Given the description of an element on the screen output the (x, y) to click on. 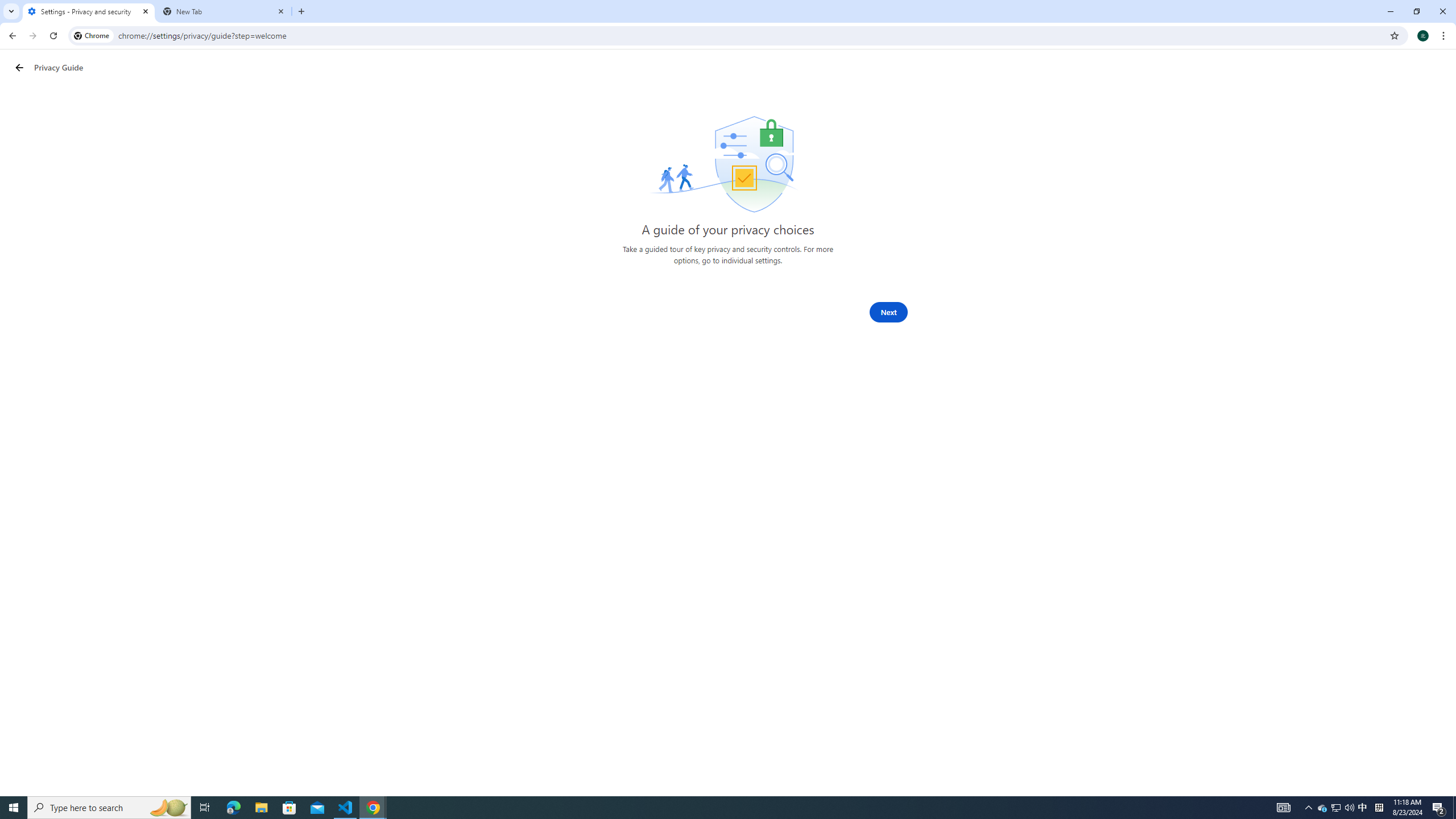
Privacy Guide back button (19, 67)
Settings - Privacy and security (88, 11)
Next (888, 312)
New Tab (224, 11)
